Given the description of an element on the screen output the (x, y) to click on. 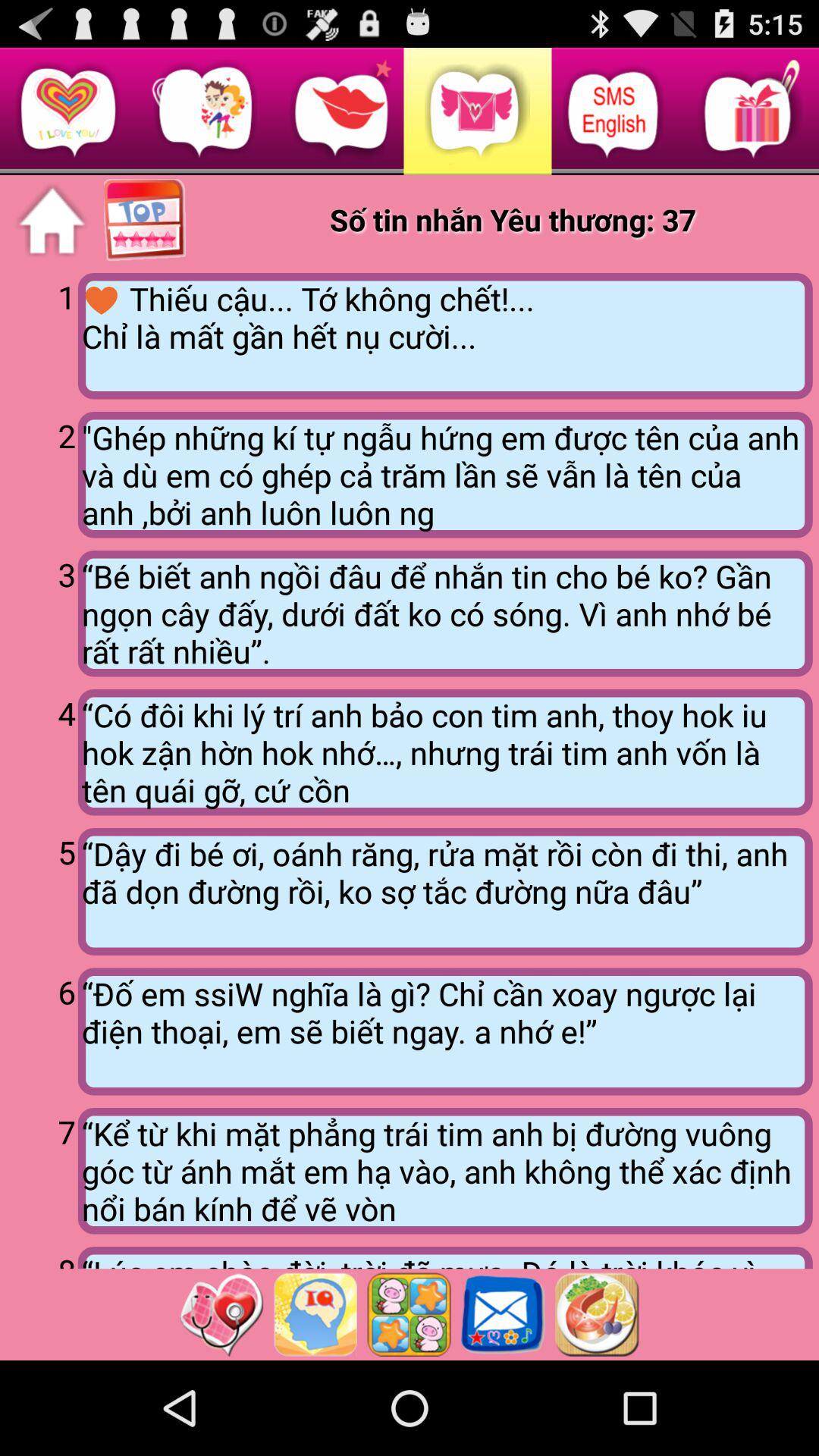
go to homepage (51, 220)
